Given the description of an element on the screen output the (x, y) to click on. 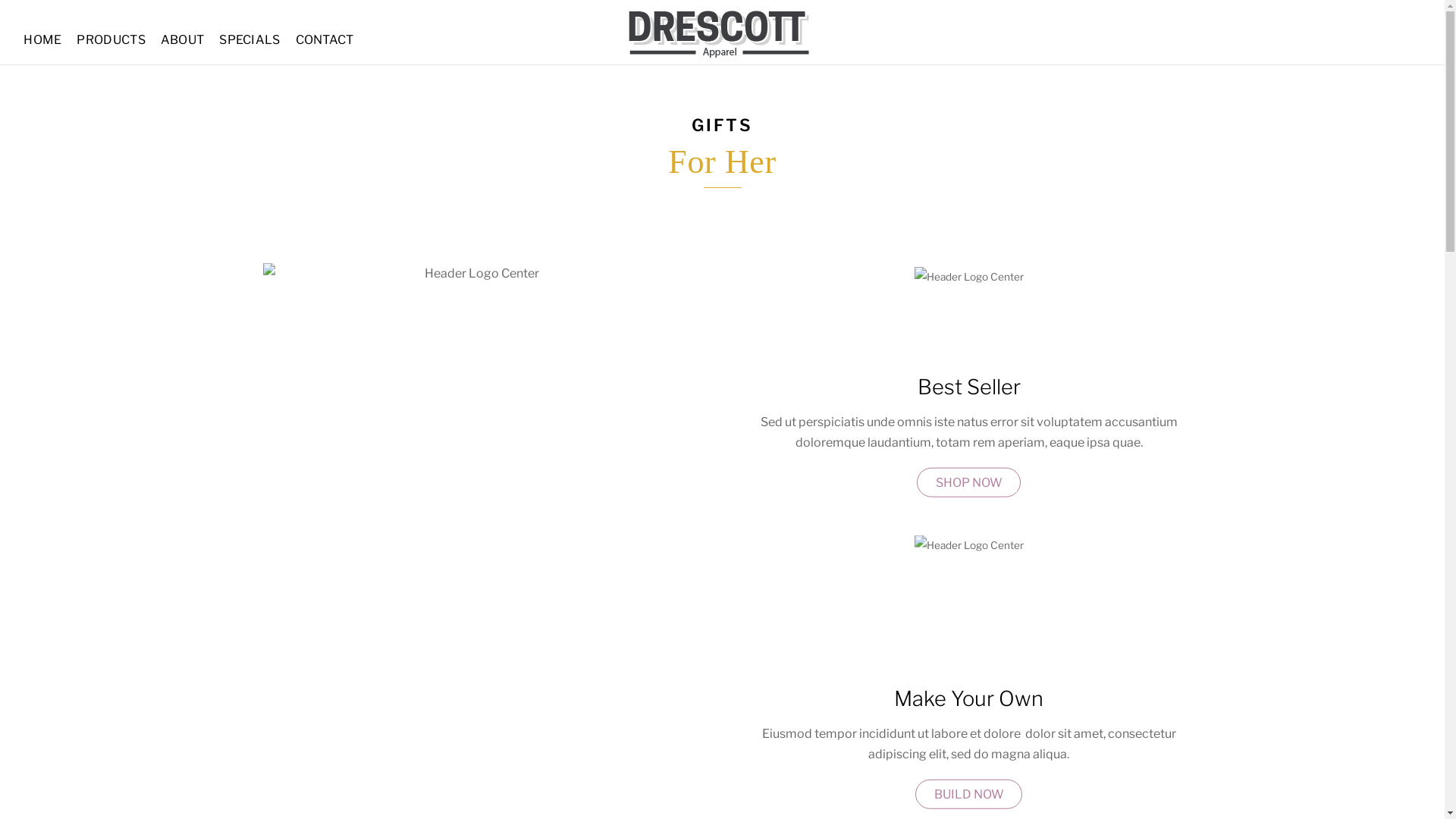
ABOUT Element type: text (181, 40)
SHOP NOW Element type: text (967, 482)
PRODUCTS Element type: text (111, 40)
Drescott Apparel Element type: hover (722, 49)
BUILD NOW Element type: text (968, 794)
CONTACT Element type: text (324, 40)
Drescott Apparel Element type: hover (722, 32)
SPECIALS Element type: text (249, 40)
HOME Element type: text (42, 40)
